Given the description of an element on the screen output the (x, y) to click on. 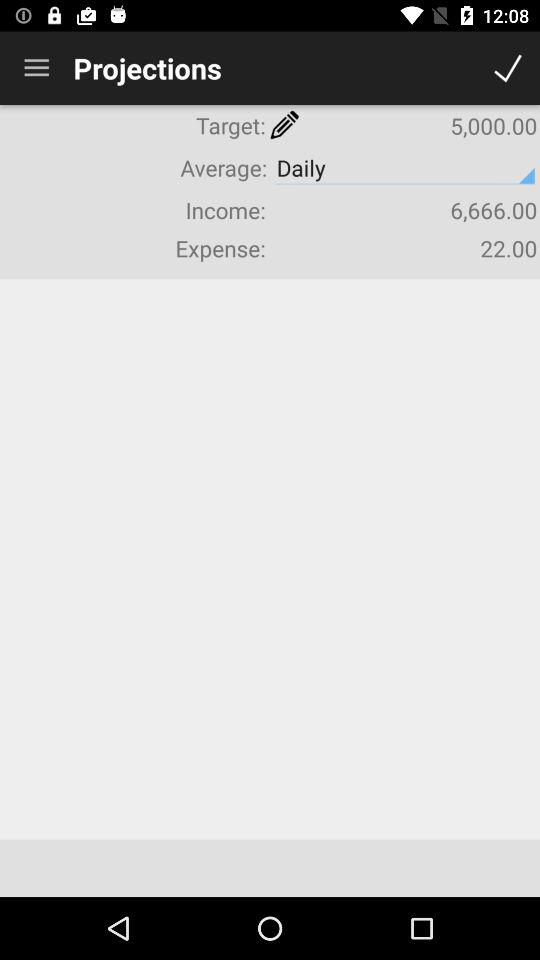
click on daily (405, 167)
